Given the description of an element on the screen output the (x, y) to click on. 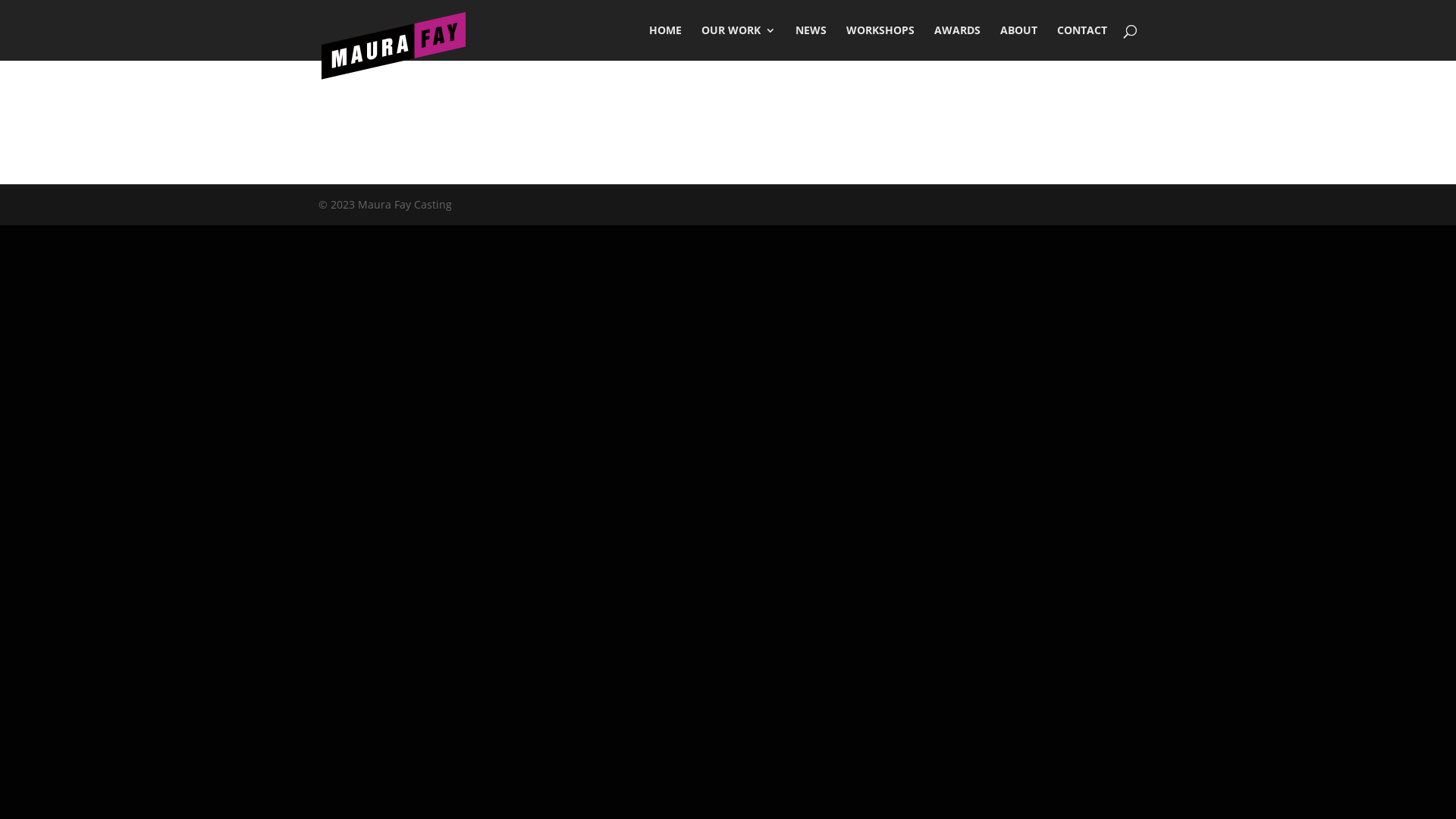
HOME Element type: text (665, 42)
AWARDS Element type: text (957, 42)
NEWS Element type: text (810, 42)
OUR WORK Element type: text (738, 42)
CONTACT Element type: text (1082, 42)
WORKSHOPS Element type: text (880, 42)
ABOUT Element type: text (1018, 42)
